Given the description of an element on the screen output the (x, y) to click on. 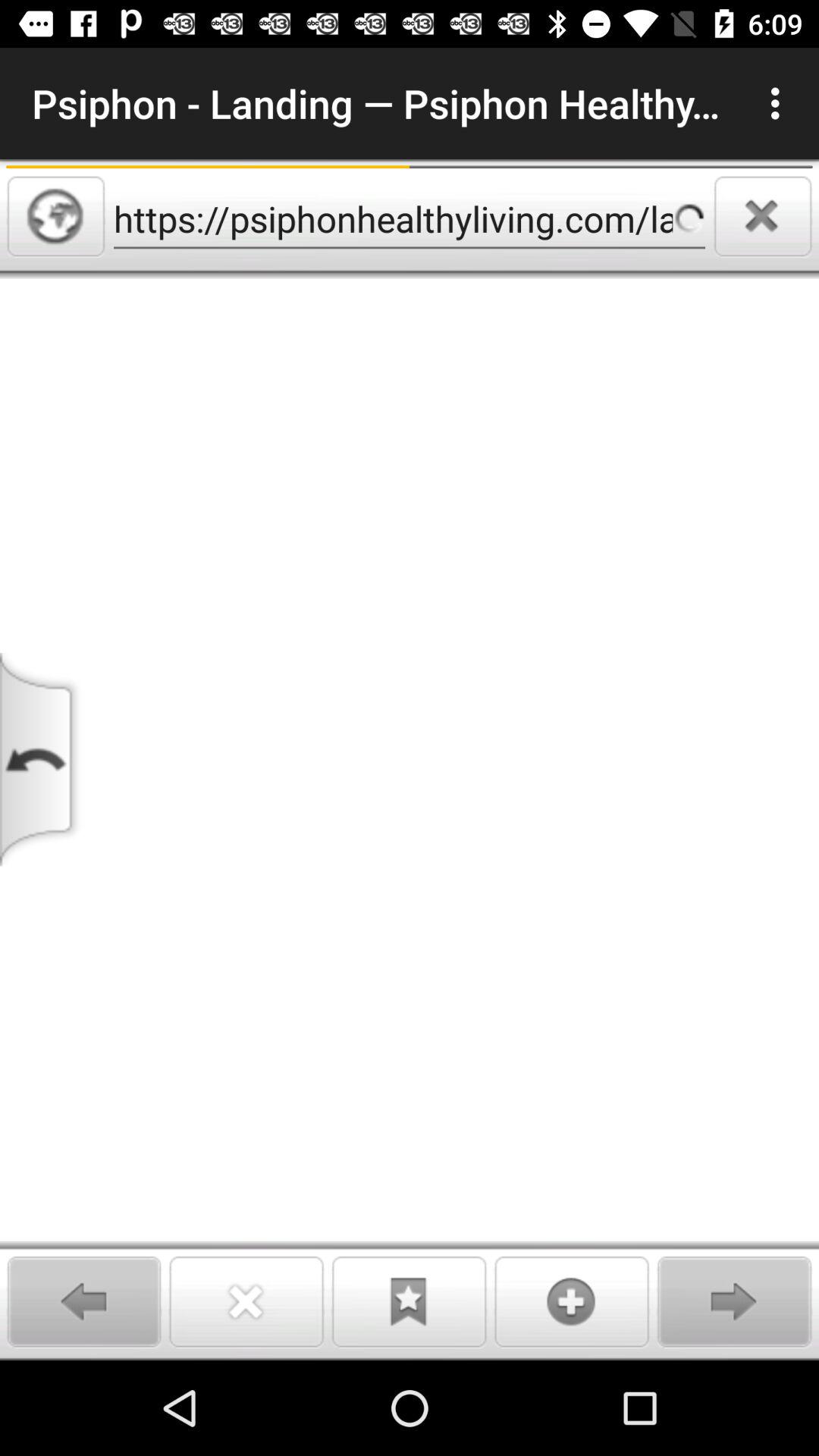
type (409, 819)
